Given the description of an element on the screen output the (x, y) to click on. 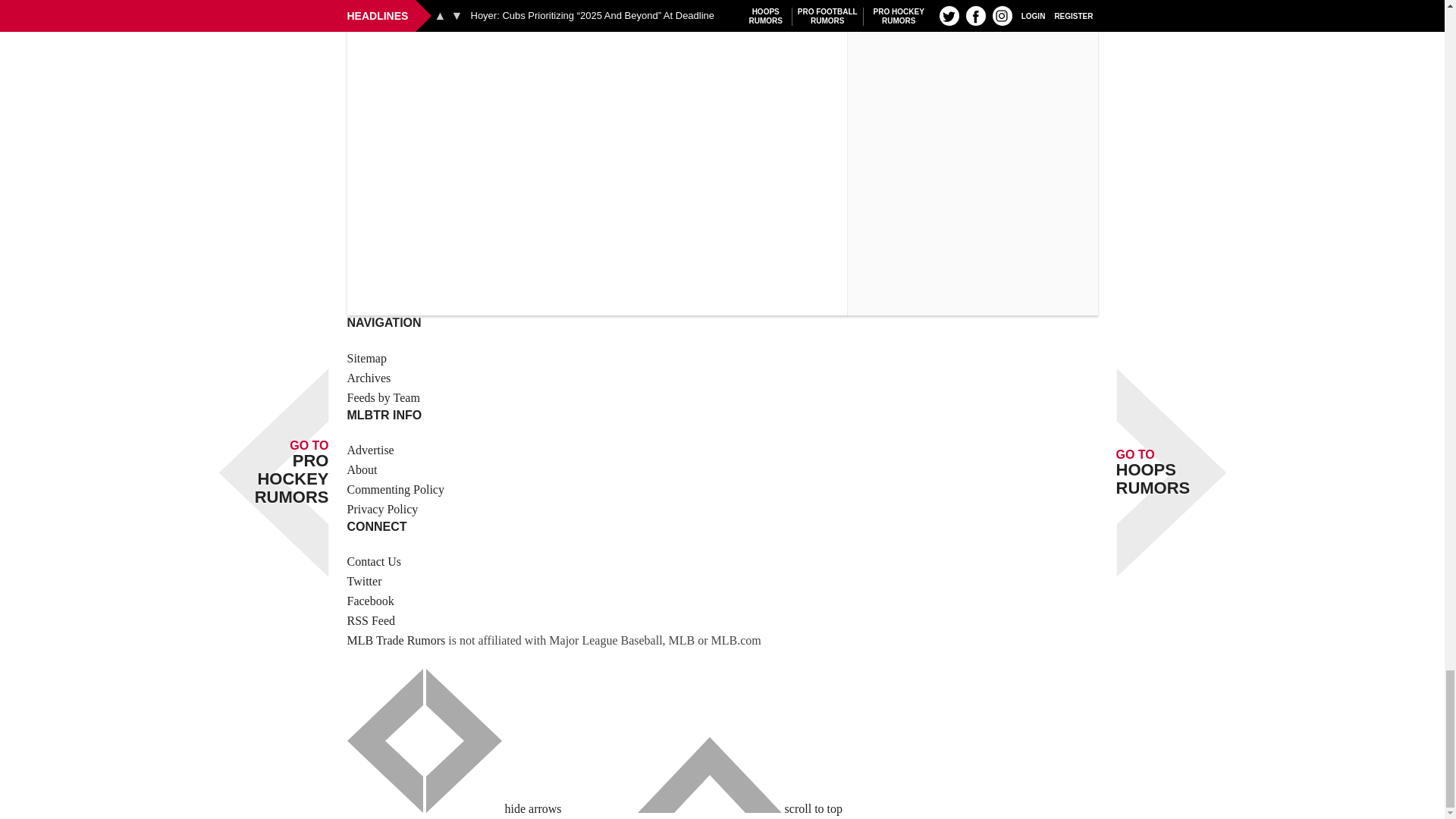
MLB Trade Rumors (396, 640)
